Given the description of an element on the screen output the (x, y) to click on. 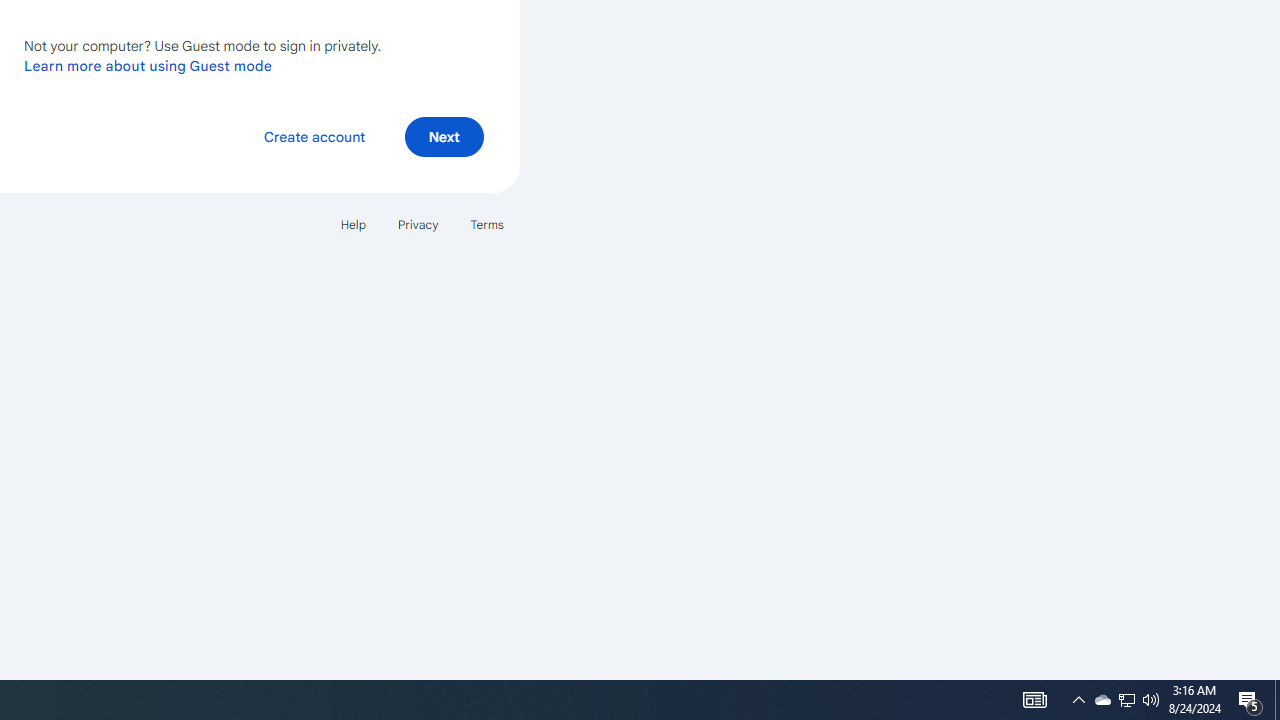
Learn more about using Guest mode (148, 65)
Create account (314, 135)
